Given the description of an element on the screen output the (x, y) to click on. 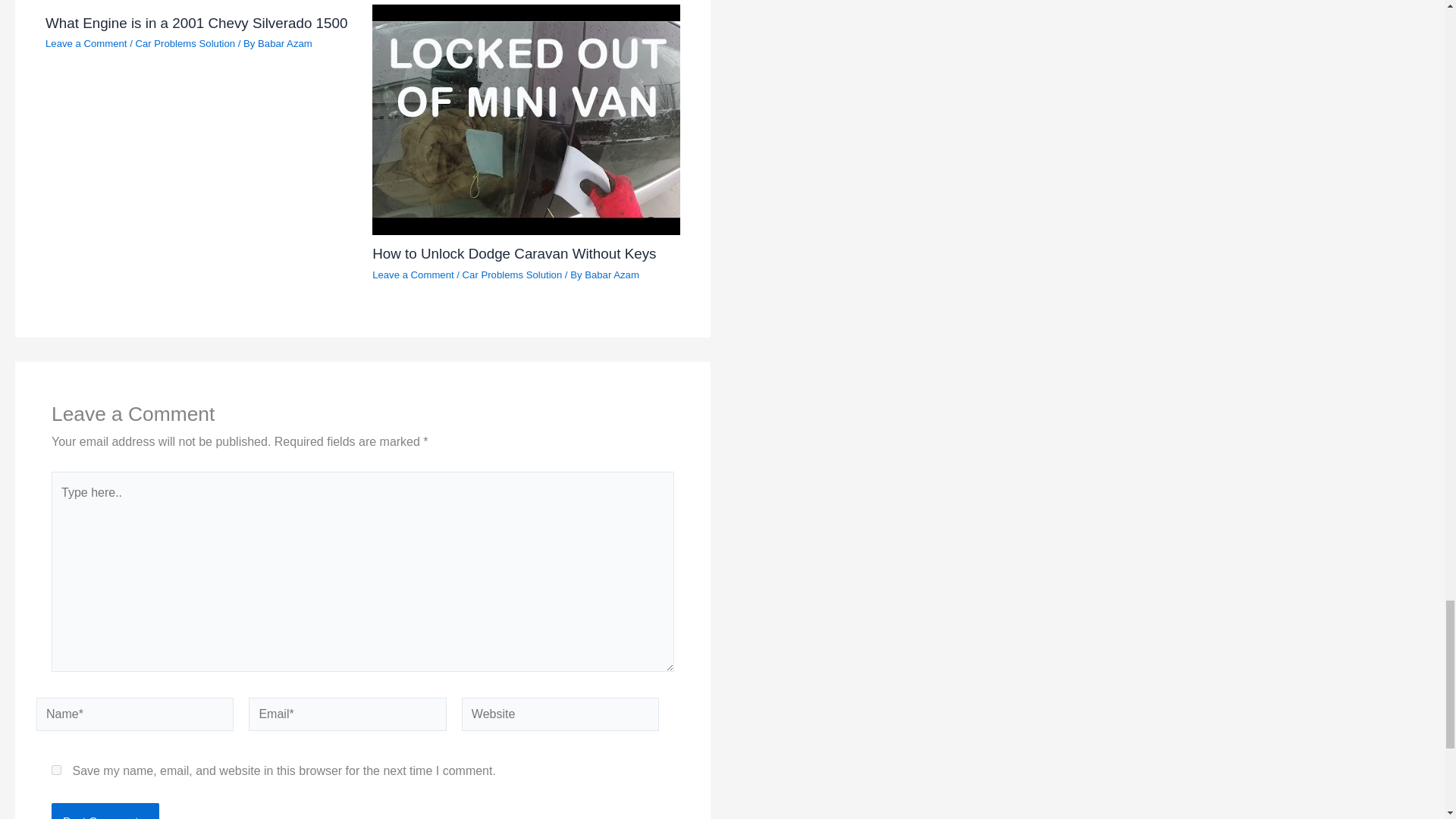
Babar Azam (612, 274)
View all posts by Babar Azam (612, 274)
How to Unlock Dodge Caravan Without Keys (514, 253)
Leave a Comment (86, 43)
View all posts by Babar Azam (285, 43)
What Engine is in a 2001 Chevy Silverado 1500 (196, 23)
Car Problems Solution (512, 274)
yes (55, 769)
Car Problems Solution (184, 43)
Babar Azam (285, 43)
